Given the description of an element on the screen output the (x, y) to click on. 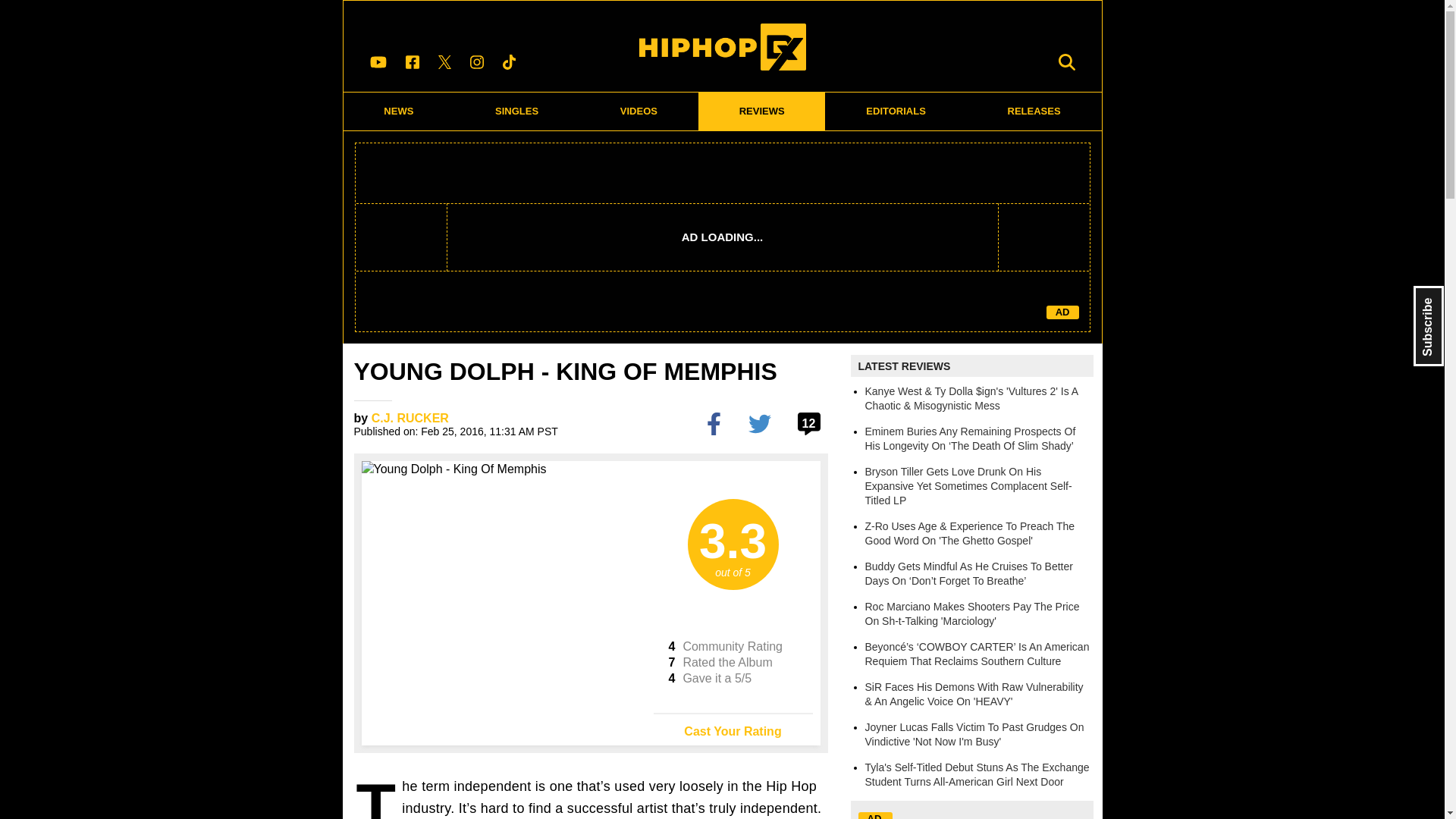
EDITORIALS (895, 111)
C.J. RUCKER (409, 418)
SINGLES (516, 111)
12 (810, 423)
NEWS (398, 111)
REVIEWS (761, 111)
Cast Your Rating (732, 725)
RELEASES (1034, 111)
VIDEOS (638, 111)
